Given the description of an element on the screen output the (x, y) to click on. 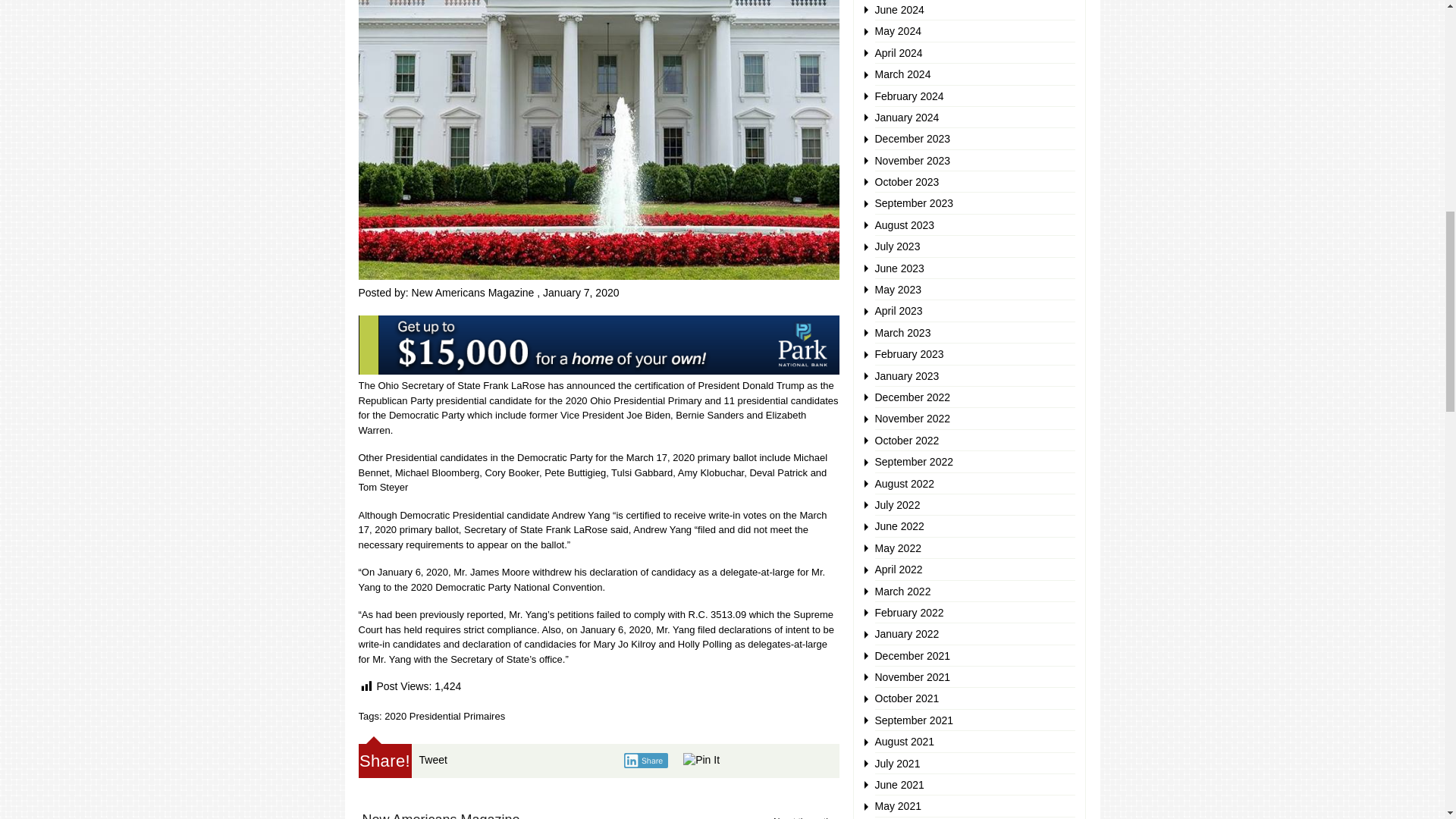
Pin It (700, 760)
